Given the description of an element on the screen output the (x, y) to click on. 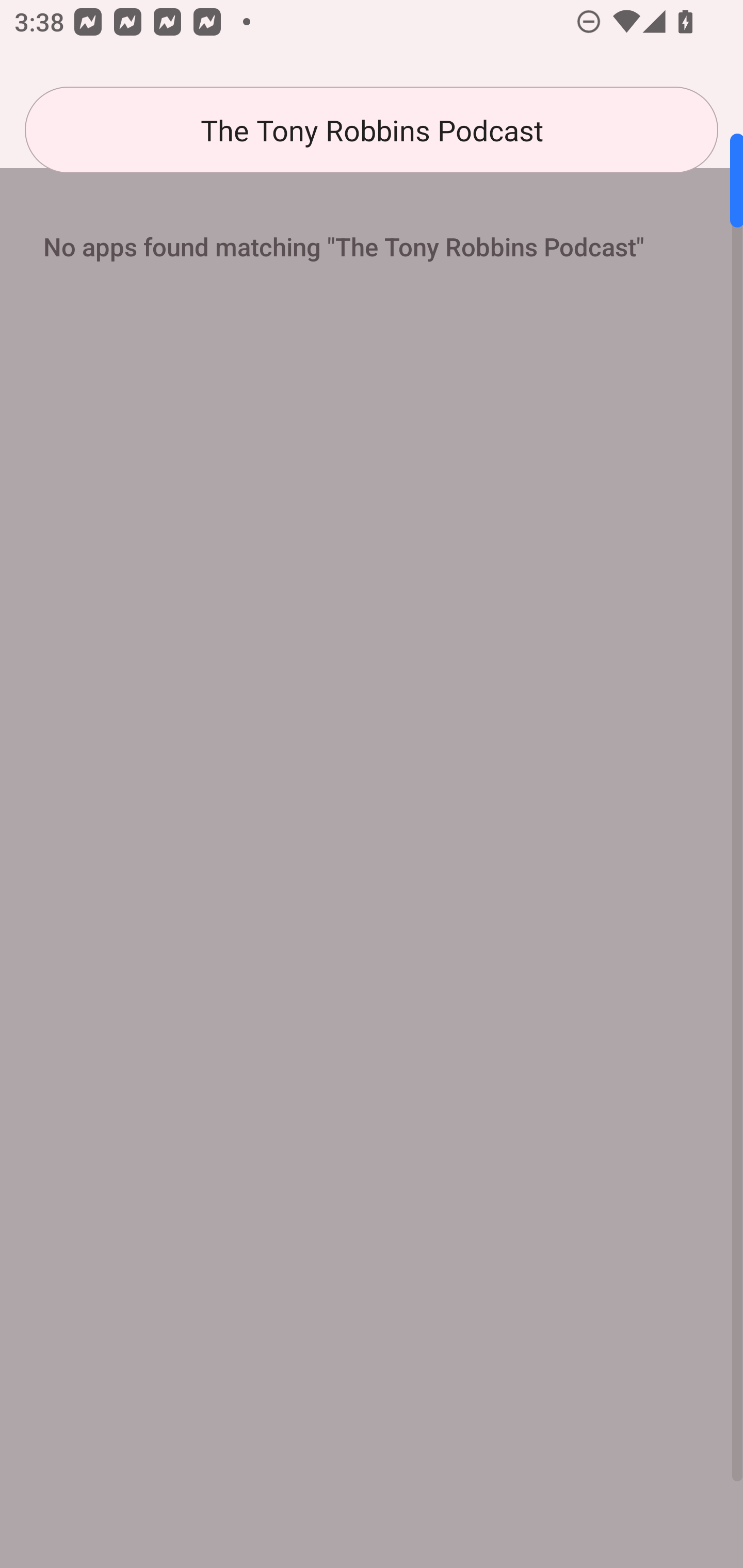
The Tony Robbins Podcast (371, 130)
